Given the description of an element on the screen output the (x, y) to click on. 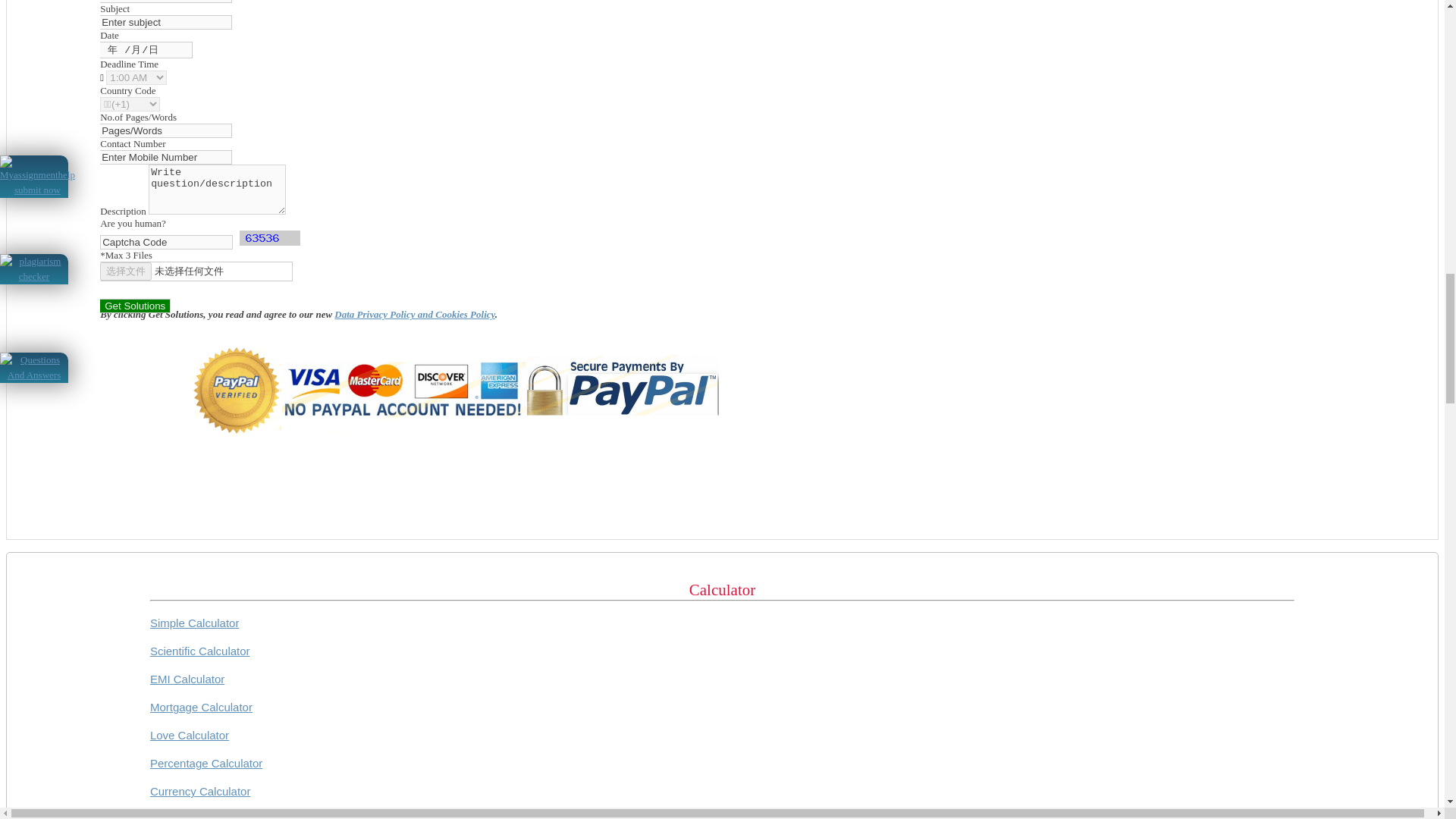
EMI Calculator (186, 678)
EMI Calculator (186, 678)
Scientific Calculator (199, 650)
Data Privacy Policy and Cookies Policy (414, 314)
Love Calculator (188, 735)
Mortgage Calculator (200, 707)
Simple Calculator (194, 622)
Mortgage Calculator (200, 707)
Currency Calculator (199, 790)
Love Calculator (188, 735)
Units Converter (188, 816)
Scientific Calculator (199, 650)
Get Solutions (135, 305)
Data Privacy Policy and Cookies Policy (414, 314)
Simple Calculator (194, 622)
